Given the description of an element on the screen output the (x, y) to click on. 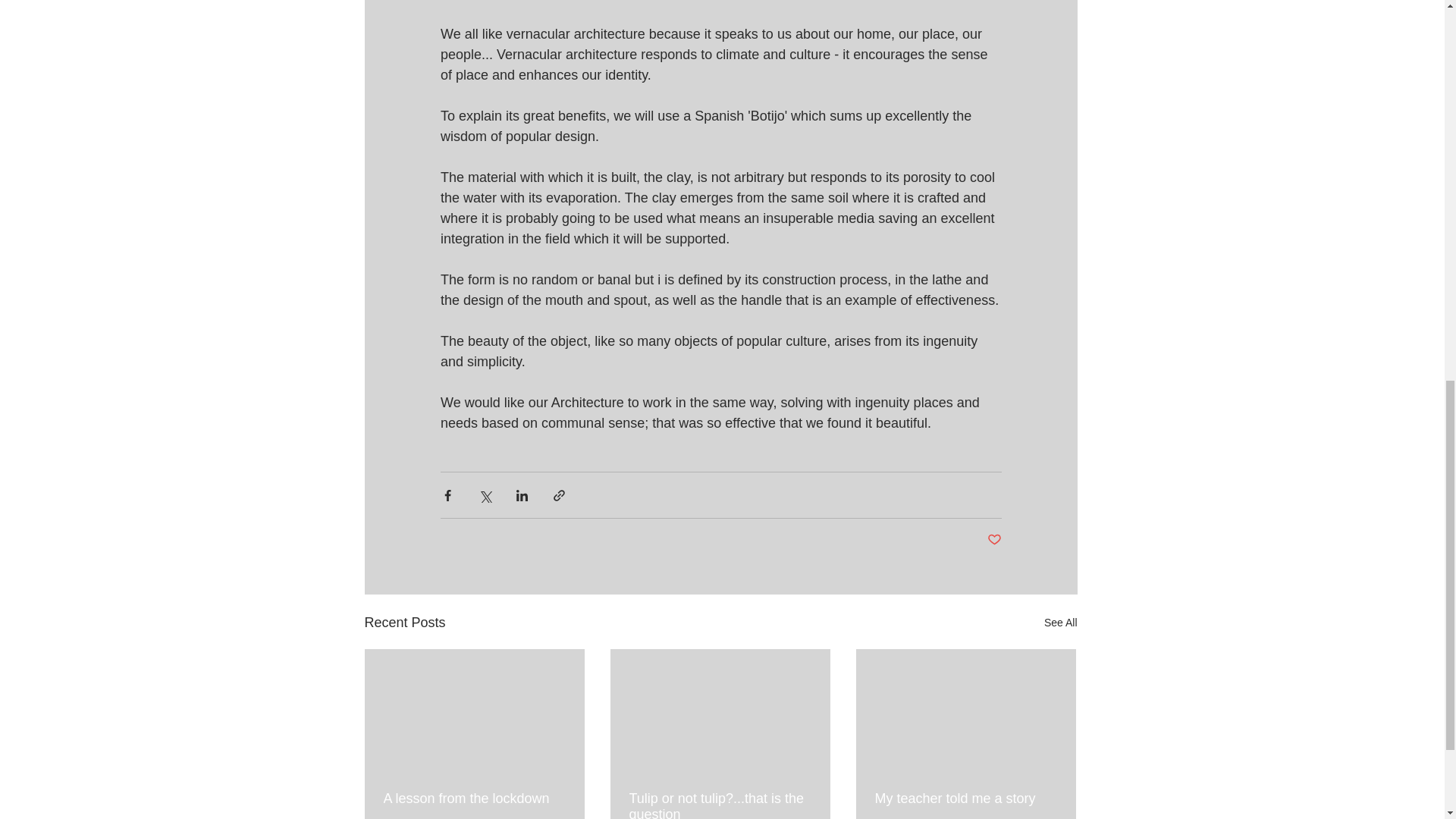
Post not marked as liked (994, 539)
See All (1060, 622)
A lesson from the lockdown (475, 798)
